Given the description of an element on the screen output the (x, y) to click on. 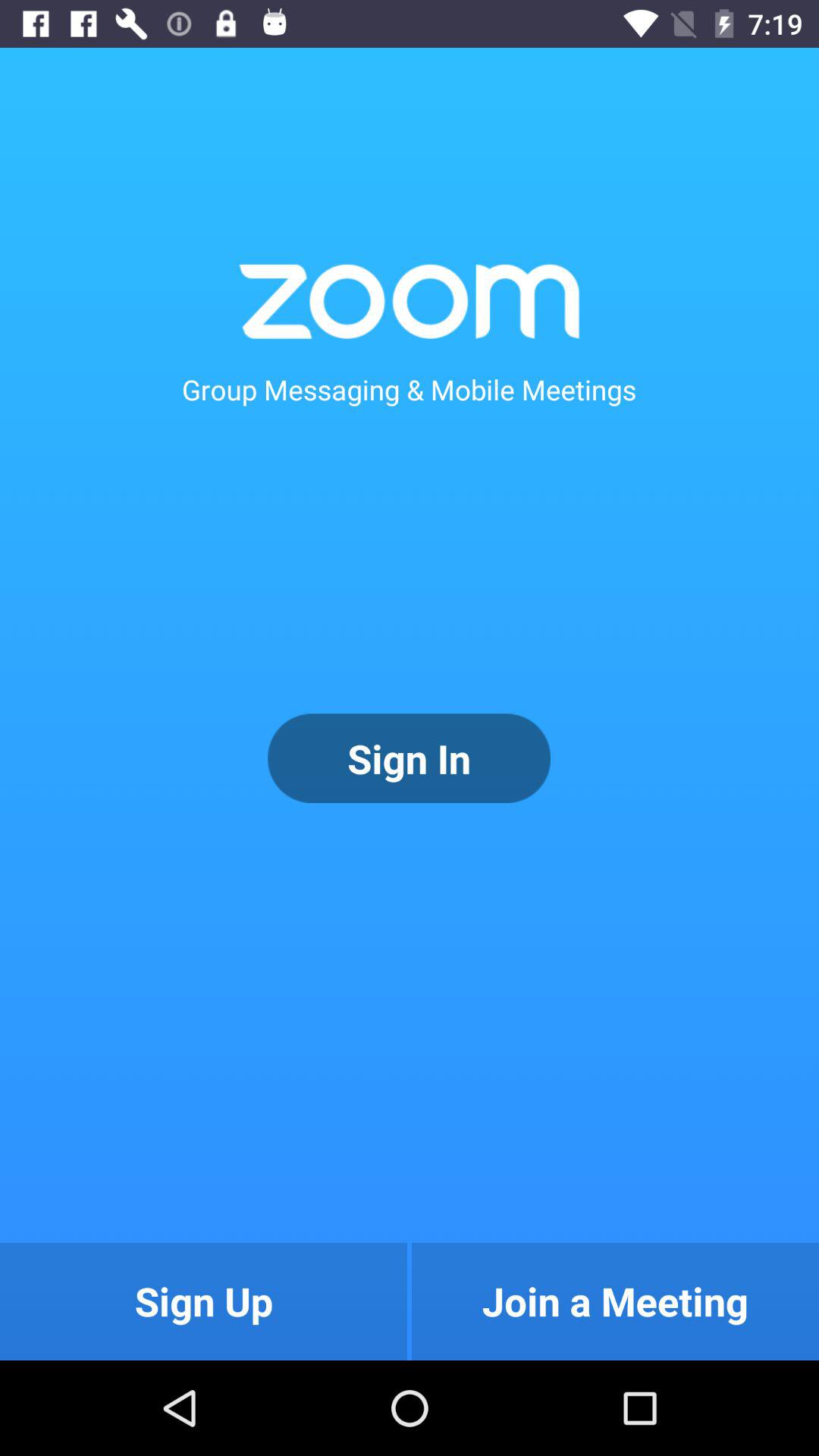
tap the join a meeting item (615, 1301)
